Given the description of an element on the screen output the (x, y) to click on. 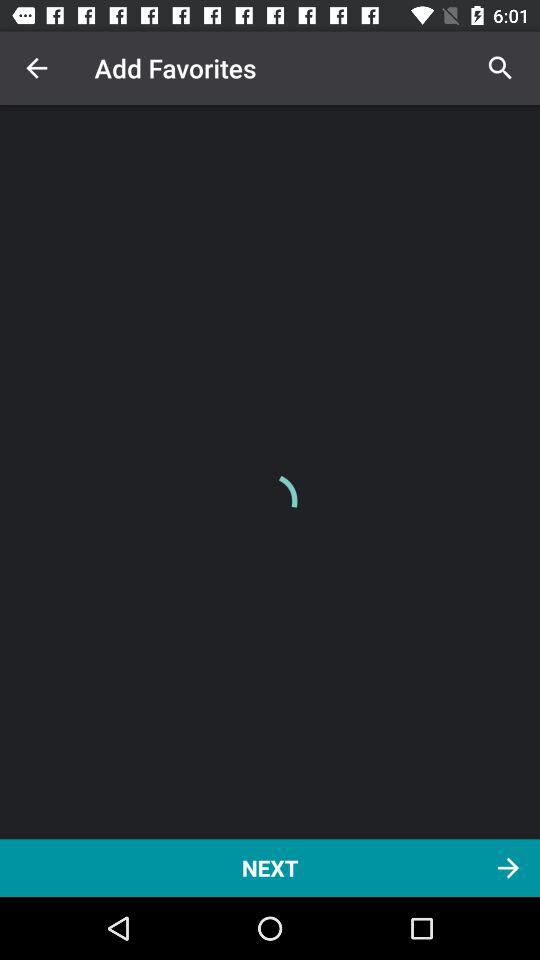
choose item to the right of add favorites (500, 67)
